Given the description of an element on the screen output the (x, y) to click on. 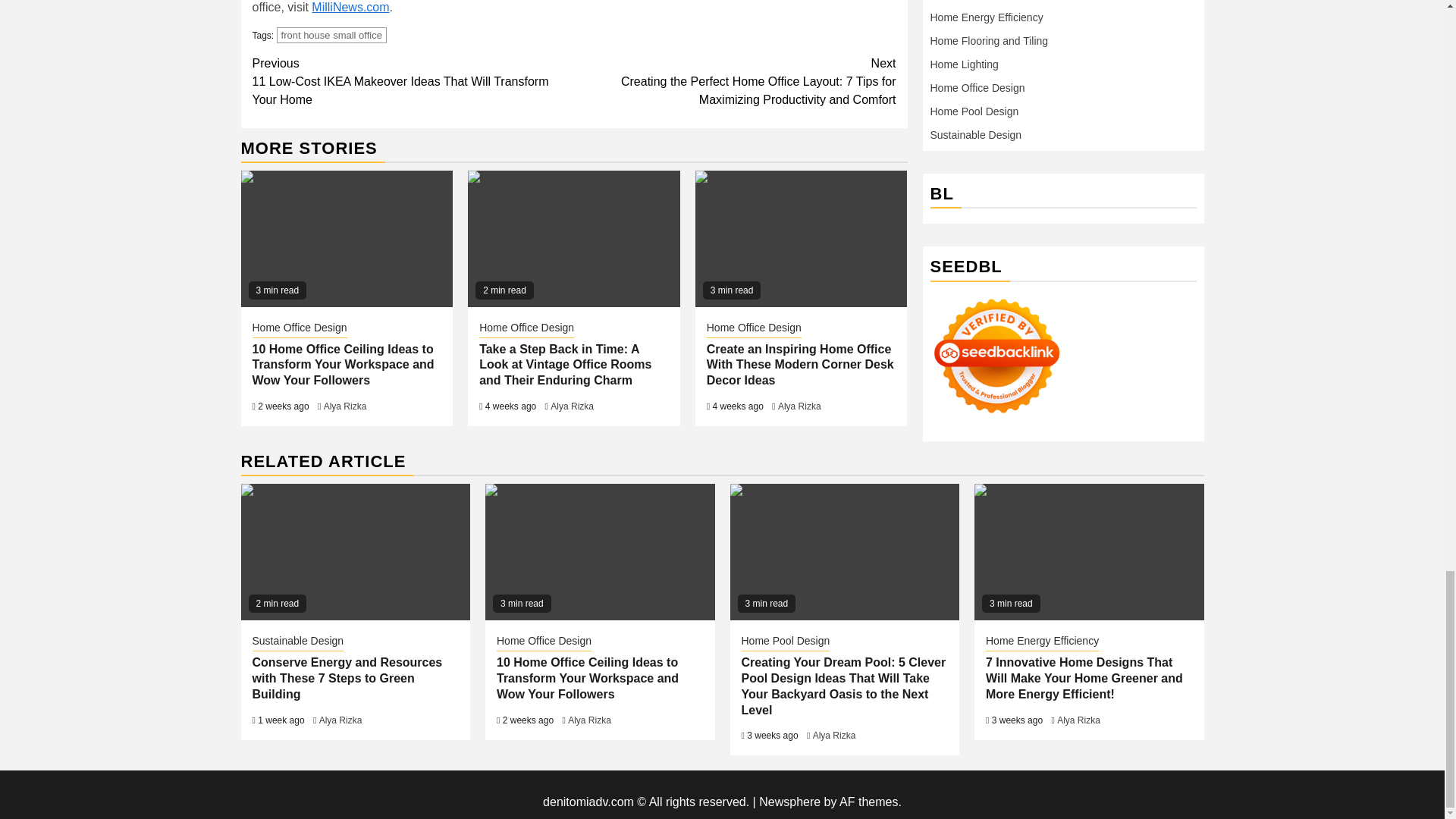
front house small office (331, 35)
MilliNews.com (349, 6)
